Given the description of an element on the screen output the (x, y) to click on. 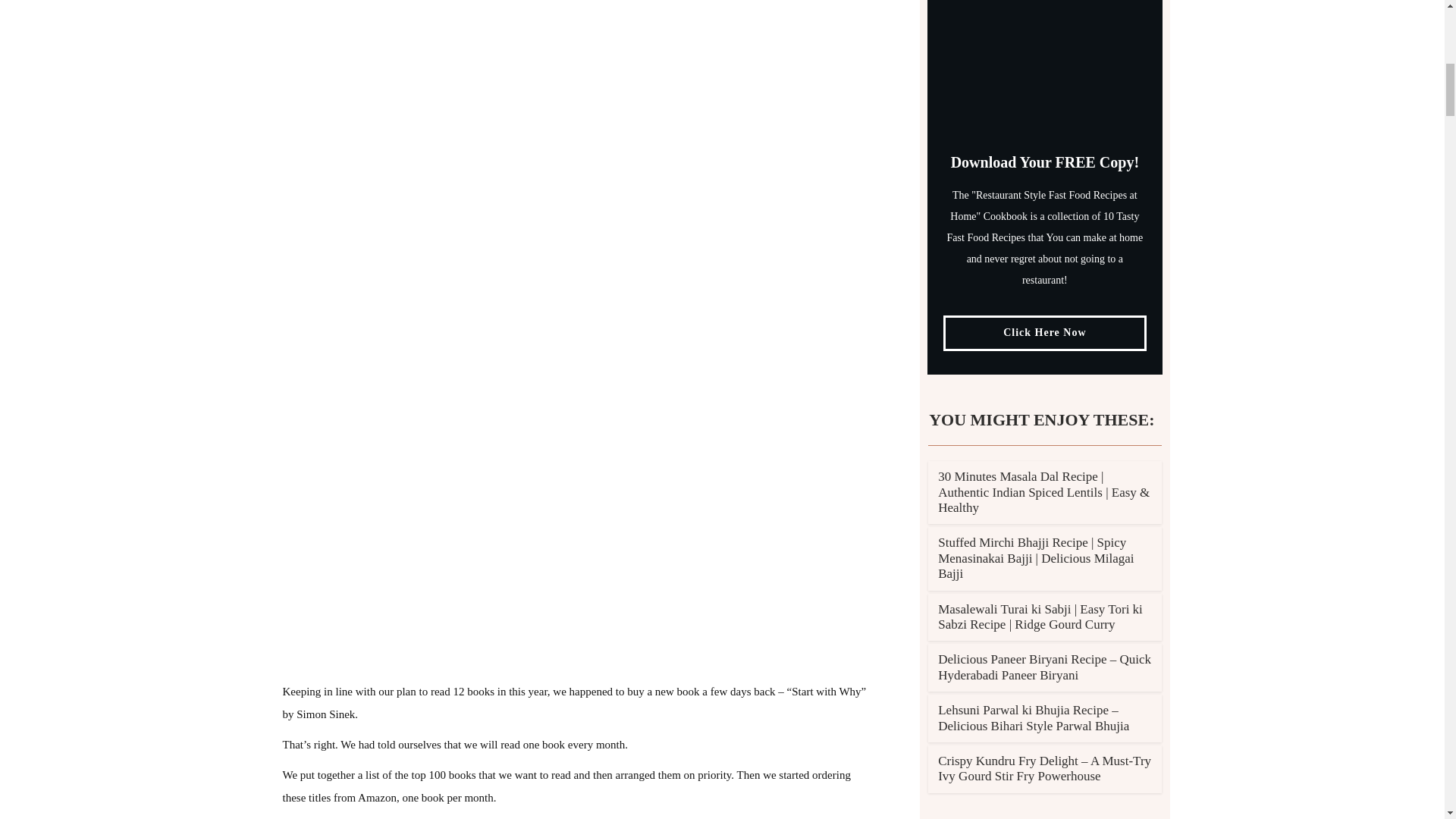
Fast Food Recipes (1044, 57)
